Given the description of an element on the screen output the (x, y) to click on. 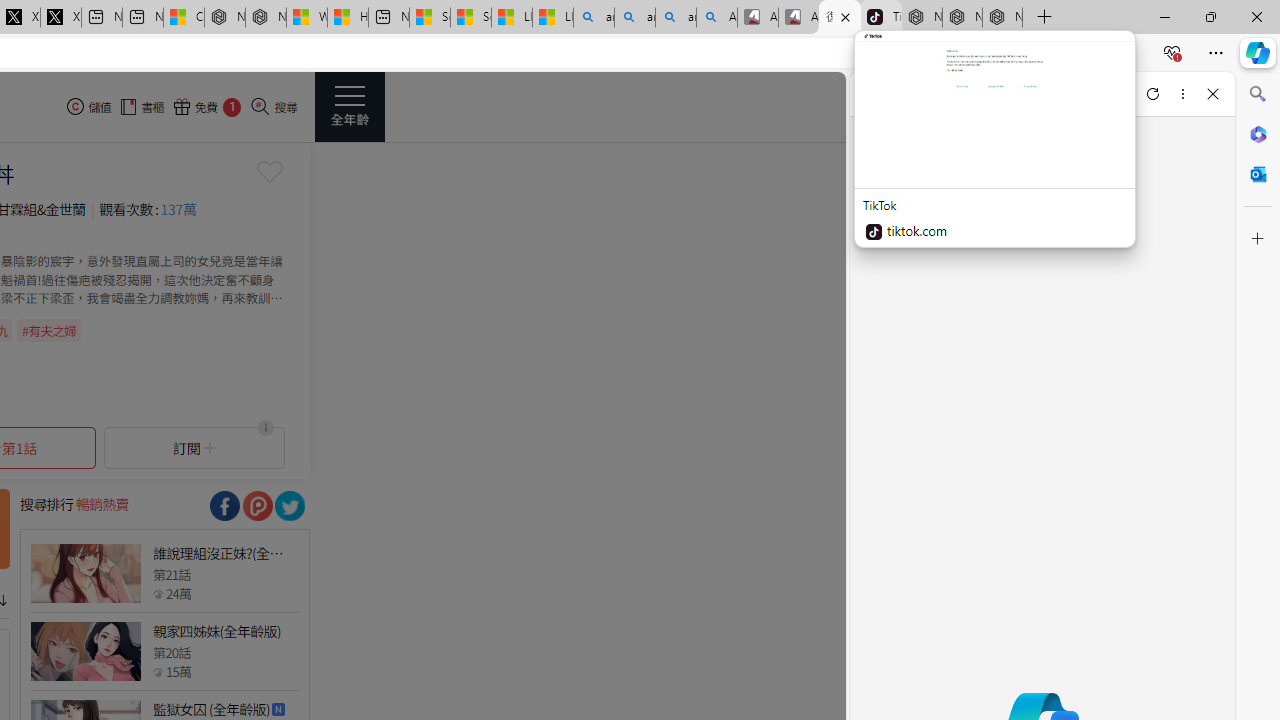
amazon - Search Images (675, 17)
TikTok (881, 17)
Amazon Echo Robot - Search Images (717, 17)
Customize (1258, 239)
